Given the description of an element on the screen output the (x, y) to click on. 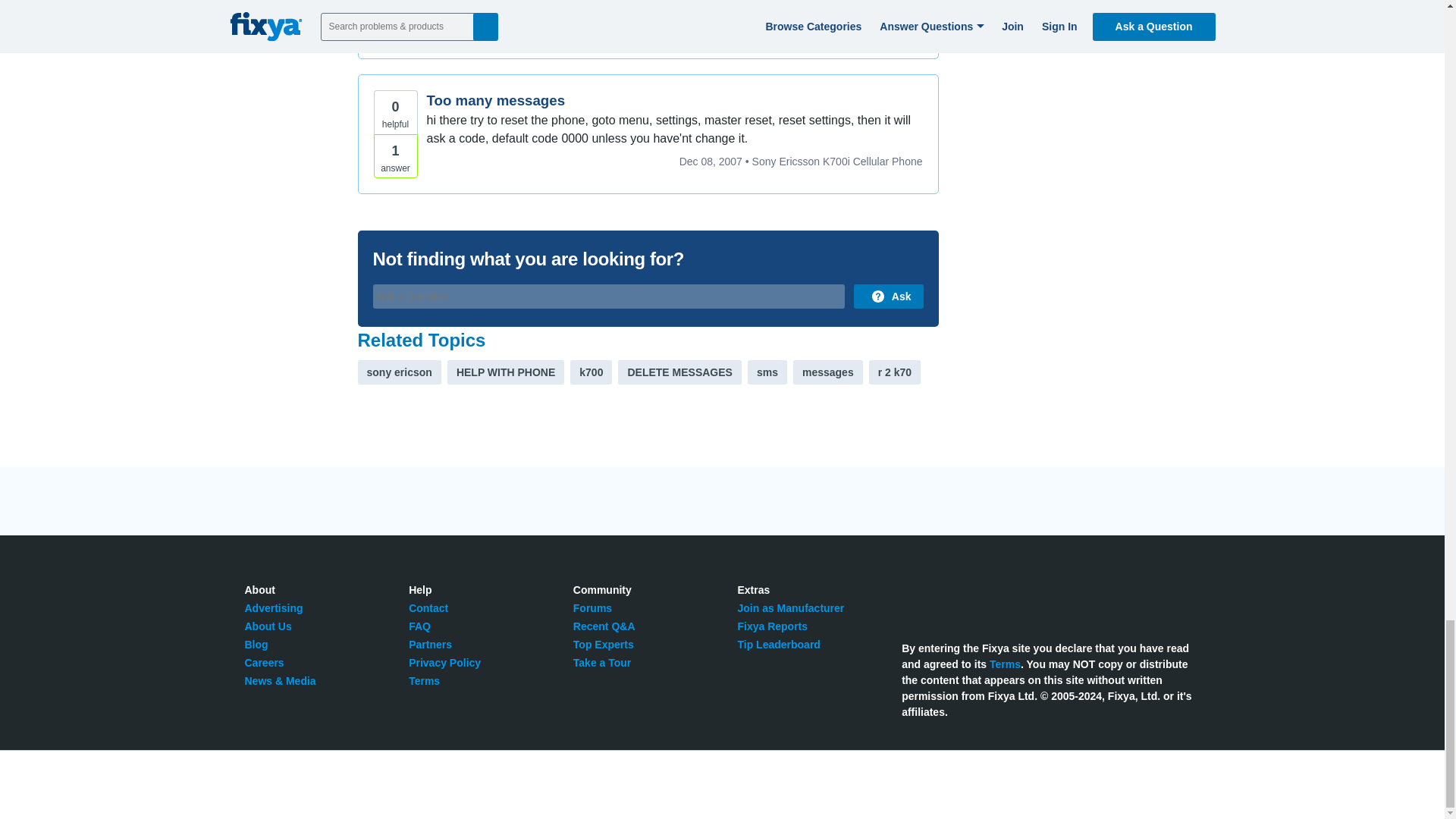
Ask (888, 296)
